Given the description of an element on the screen output the (x, y) to click on. 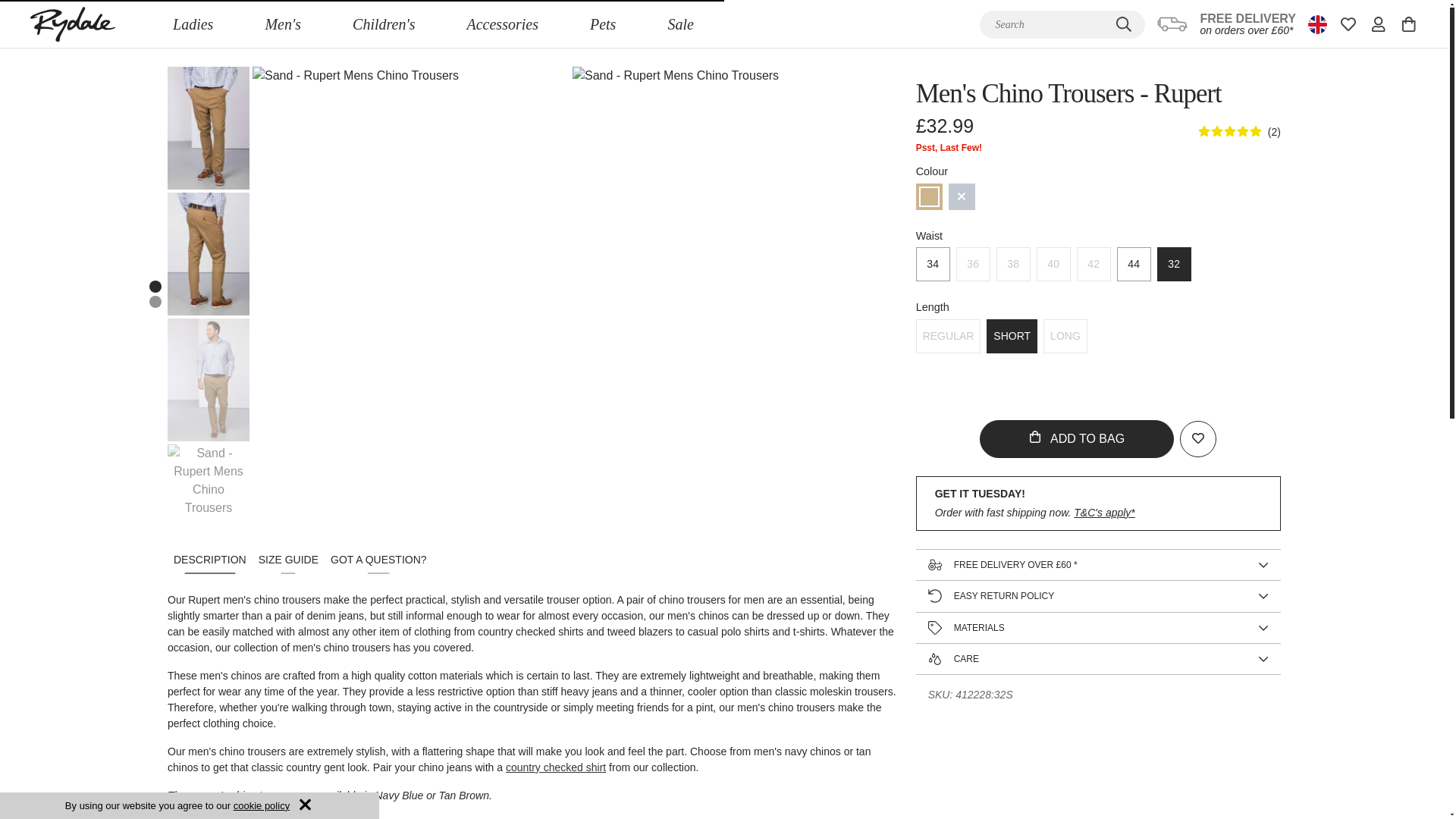
Accessories (502, 24)
cookie policy (260, 805)
Men'S (282, 24)
Ladies (192, 24)
Children'S (383, 24)
Sale (680, 24)
Pets (602, 24)
